Given the description of an element on the screen output the (x, y) to click on. 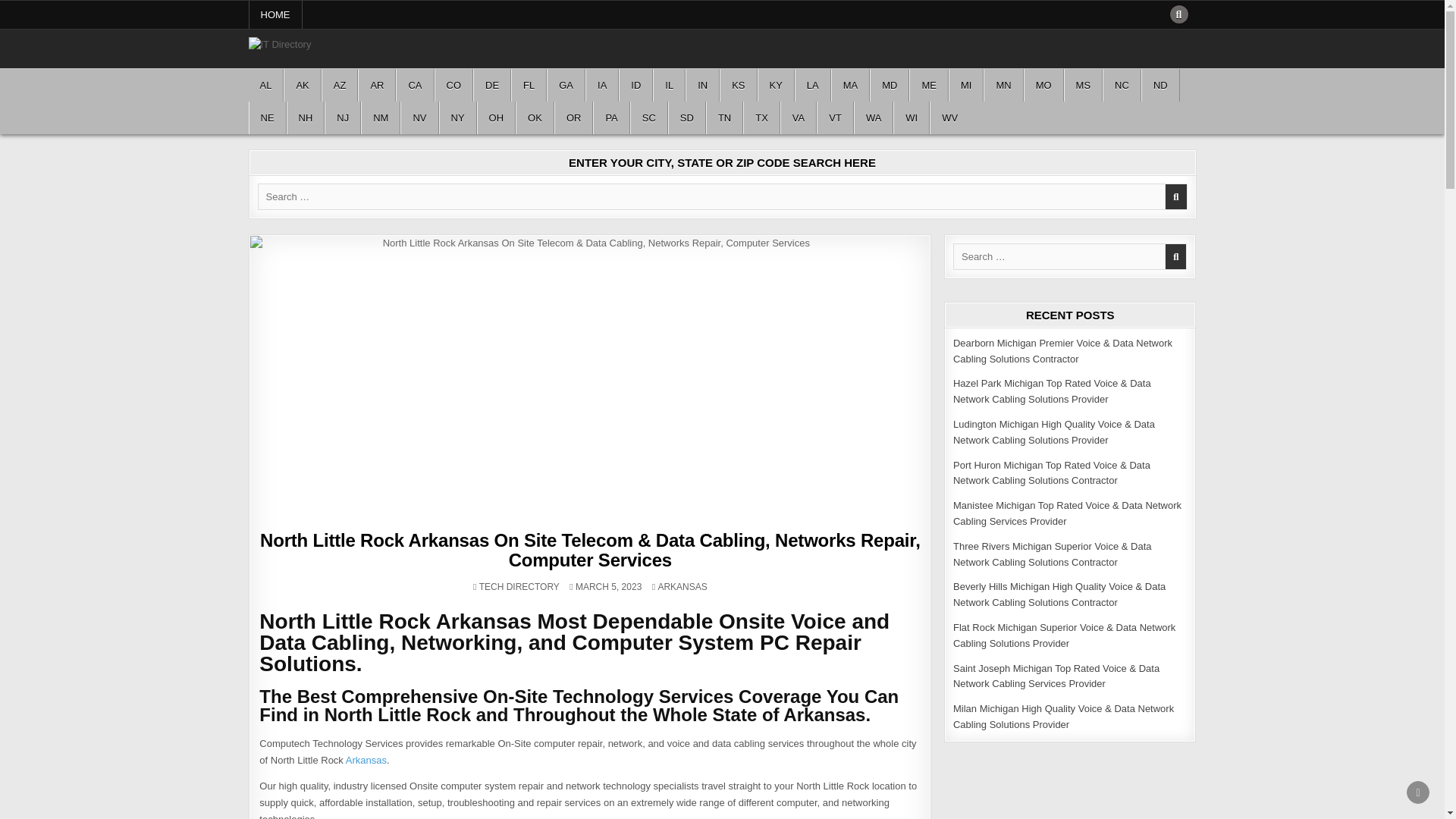
HOME (275, 14)
KY (775, 84)
IA (601, 84)
FL (529, 84)
AL (265, 84)
MD (888, 84)
NV (419, 117)
ID (635, 84)
NY (458, 117)
AZ (339, 84)
